Given the description of an element on the screen output the (x, y) to click on. 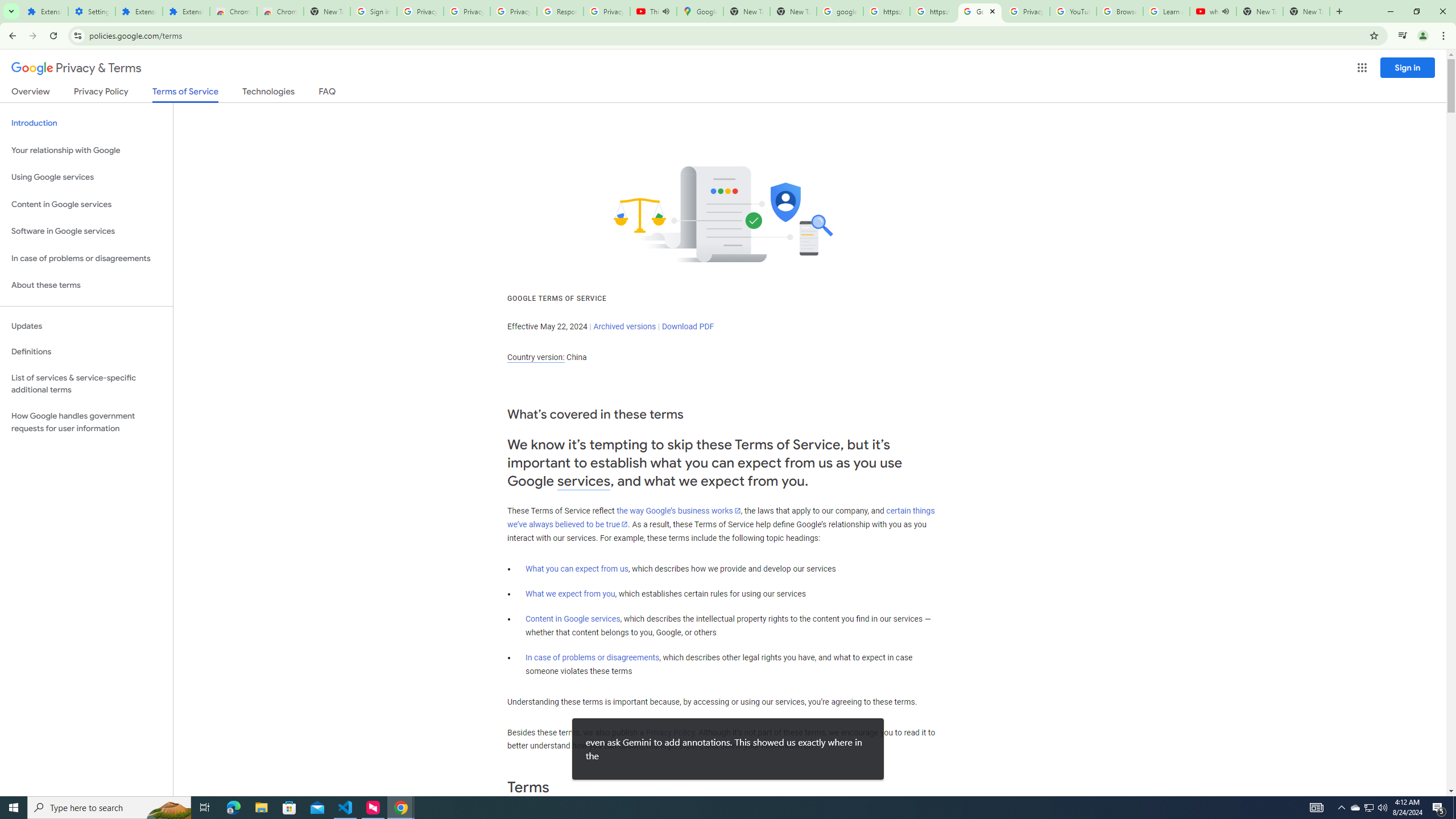
services (583, 480)
Country version: (535, 357)
Definitions (86, 352)
Download PDF (687, 326)
In case of problems or disagreements (592, 657)
Google Maps (699, 11)
update, manage, export, and delete your information (714, 746)
What we expect from you (570, 593)
